Given the description of an element on the screen output the (x, y) to click on. 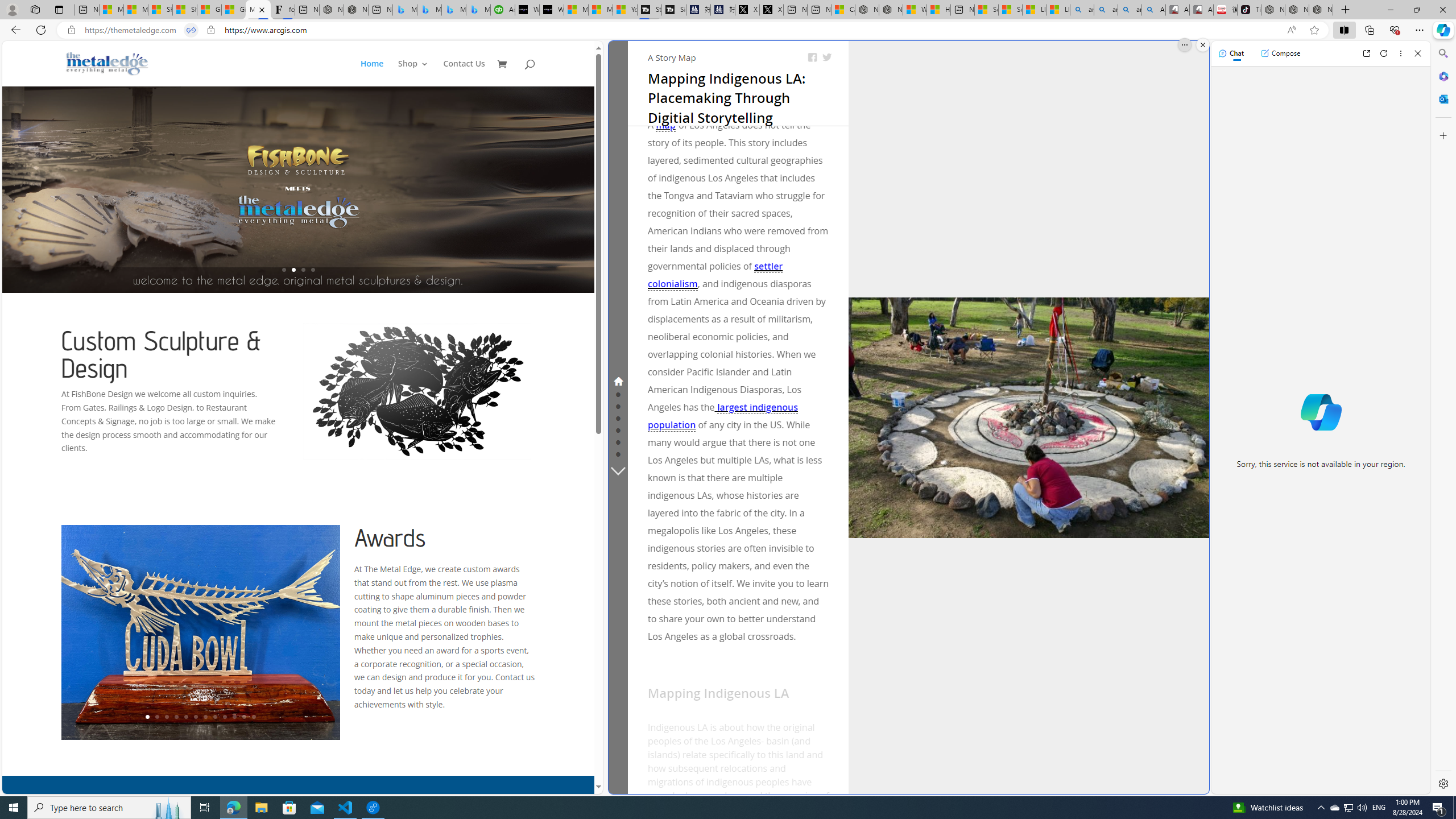
Skip to narrative (649, 51)
